Given the description of an element on the screen output the (x, y) to click on. 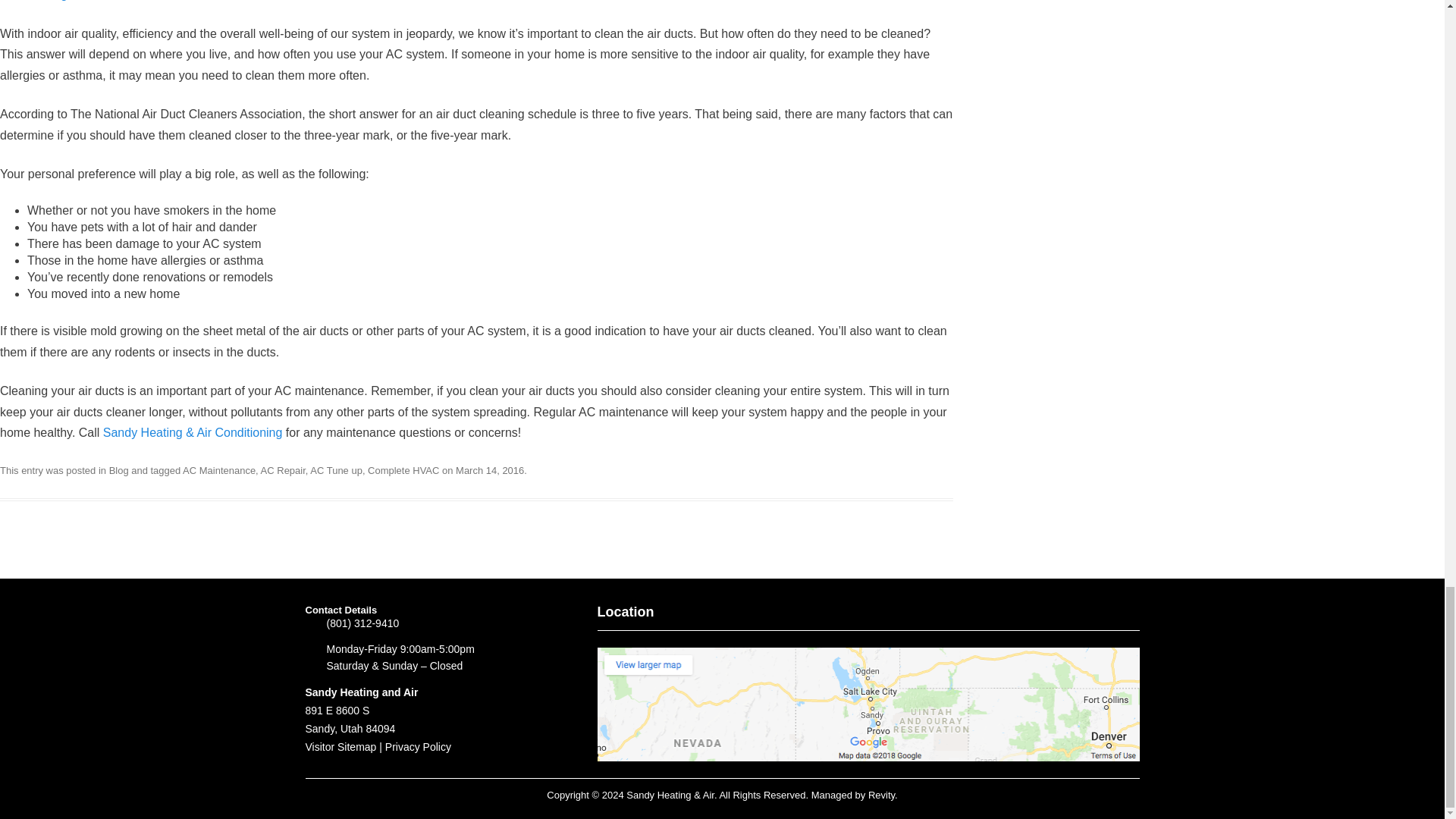
March 14, 2016 (489, 470)
Revity (881, 794)
Privacy Policy (418, 746)
AC Maintenance (219, 470)
AC Tune up (336, 470)
Blog (119, 470)
AC Repair (282, 470)
Complete HVAC (403, 470)
4:29 pm (489, 470)
Visitor Sitemap (339, 746)
